Given the description of an element on the screen output the (x, y) to click on. 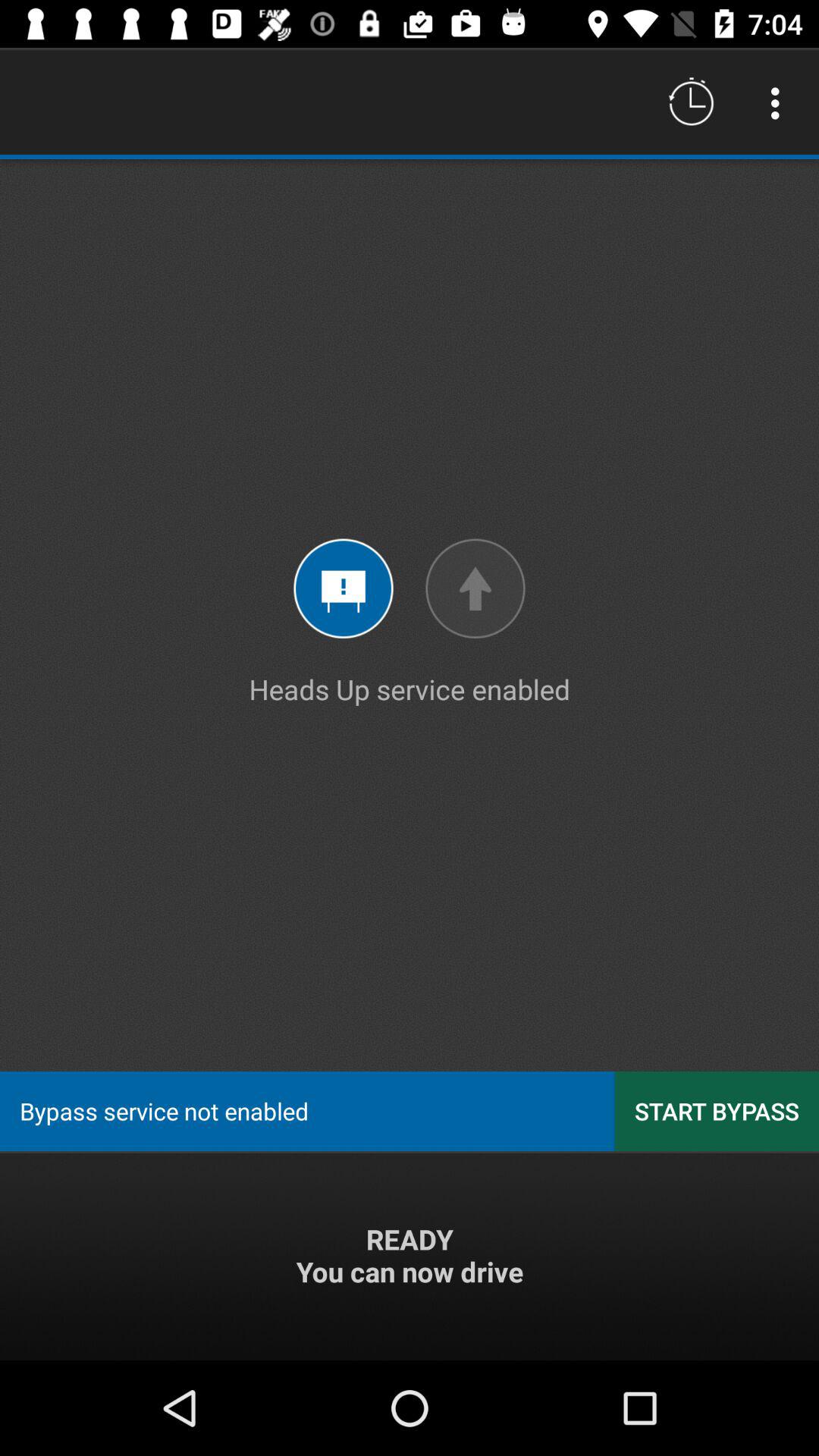
launch the icon to the right of the bypass service not icon (716, 1111)
